Given the description of an element on the screen output the (x, y) to click on. 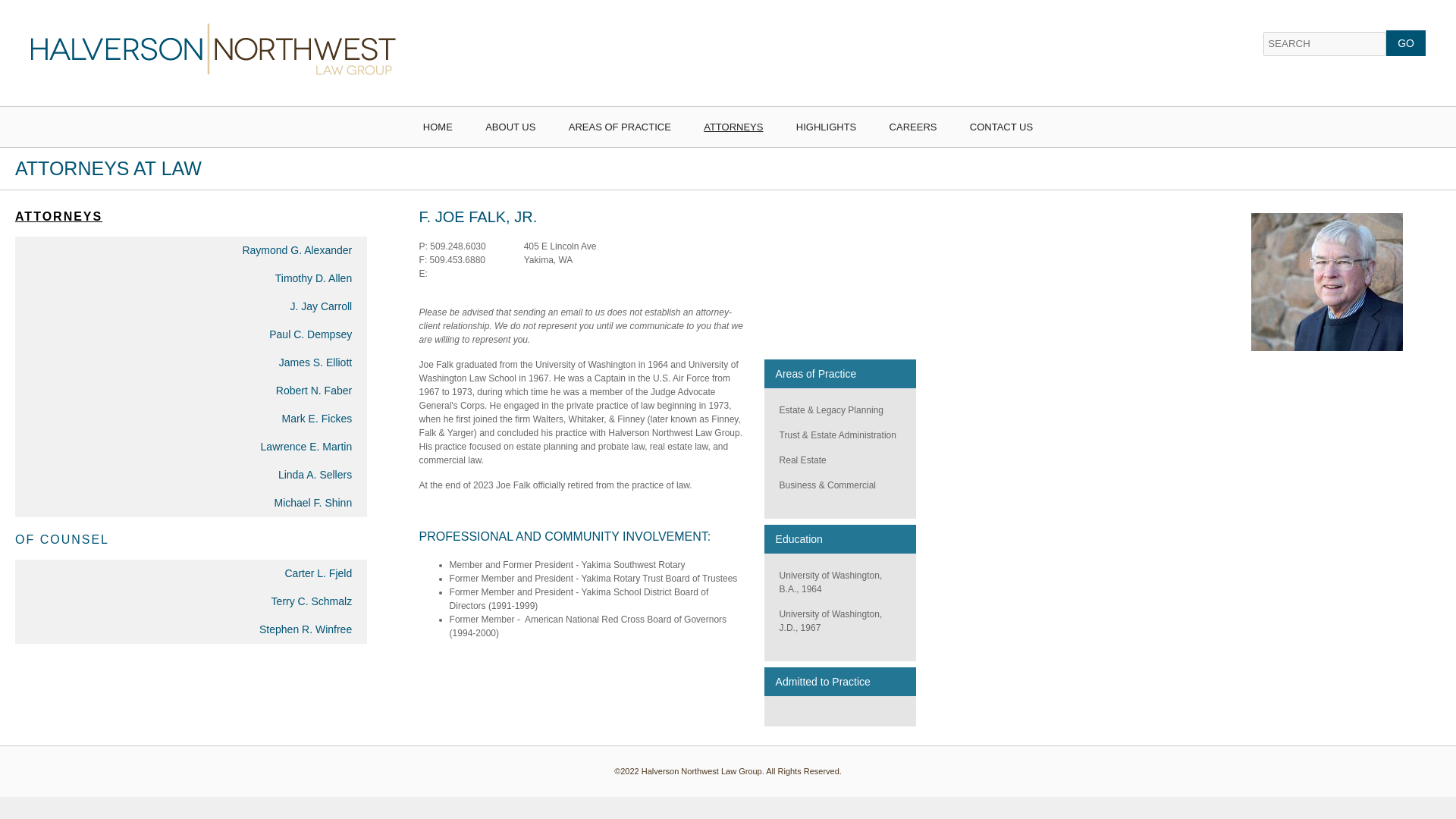
Robert N. Faber (190, 390)
Raymond G. Alexander (190, 250)
CONTACT US (1000, 127)
Timothy D. Allen (190, 278)
Michael F. Shinn (190, 502)
Lawrence E. Martin (190, 447)
ABOUT US (510, 127)
Carter L. Fjeld (190, 573)
HOME (438, 127)
Real Estate (802, 460)
